Given the description of an element on the screen output the (x, y) to click on. 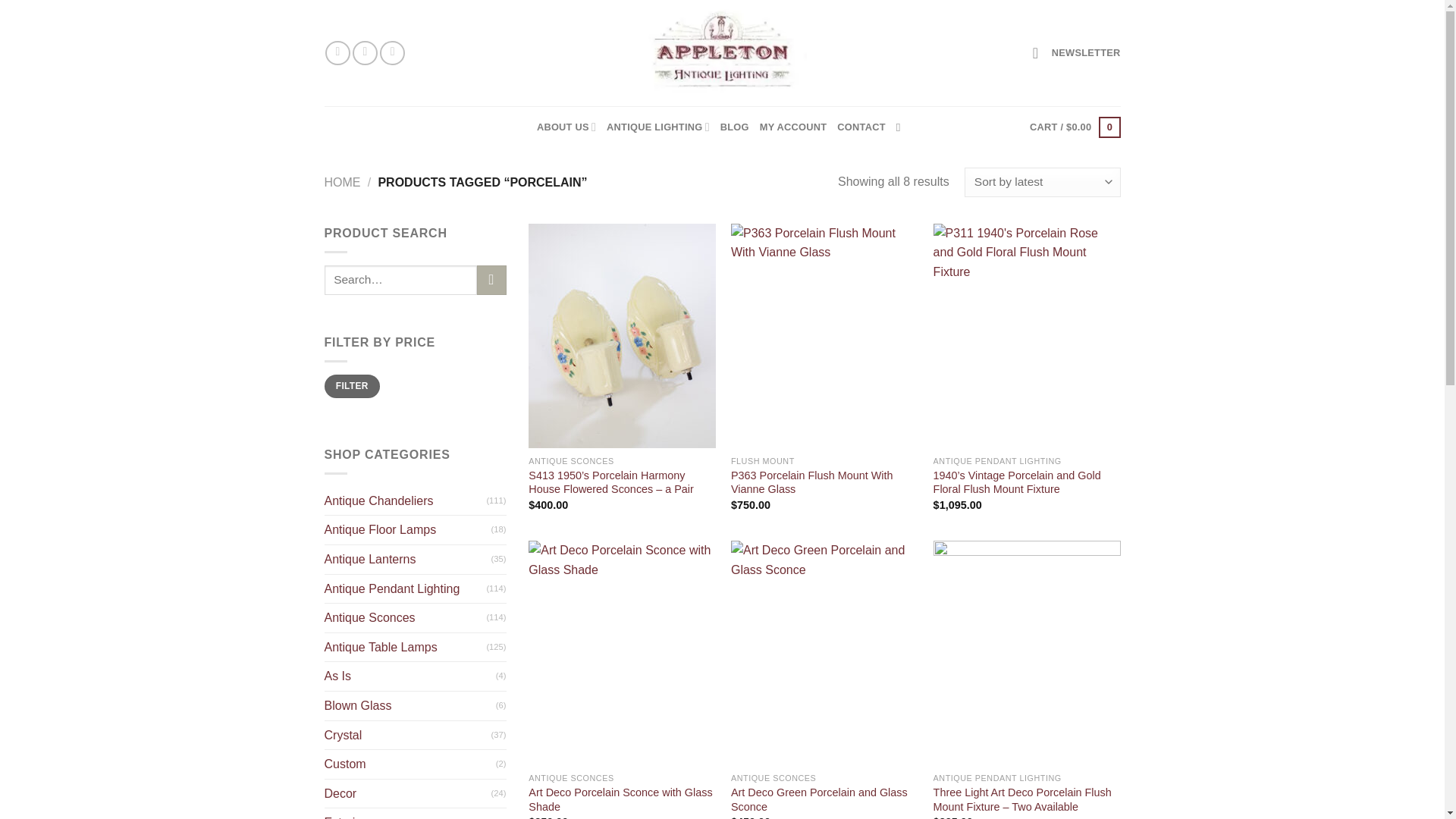
ABOUT US (566, 127)
Search (491, 279)
BLOG (734, 127)
NEWSLETTER (1076, 52)
Follow on Instagram (364, 53)
Antique Chandeliers (405, 500)
Antique Lanterns (408, 559)
CONTACT (861, 127)
FILTER (352, 386)
Follow on Facebook (337, 53)
